Given the description of an element on the screen output the (x, y) to click on. 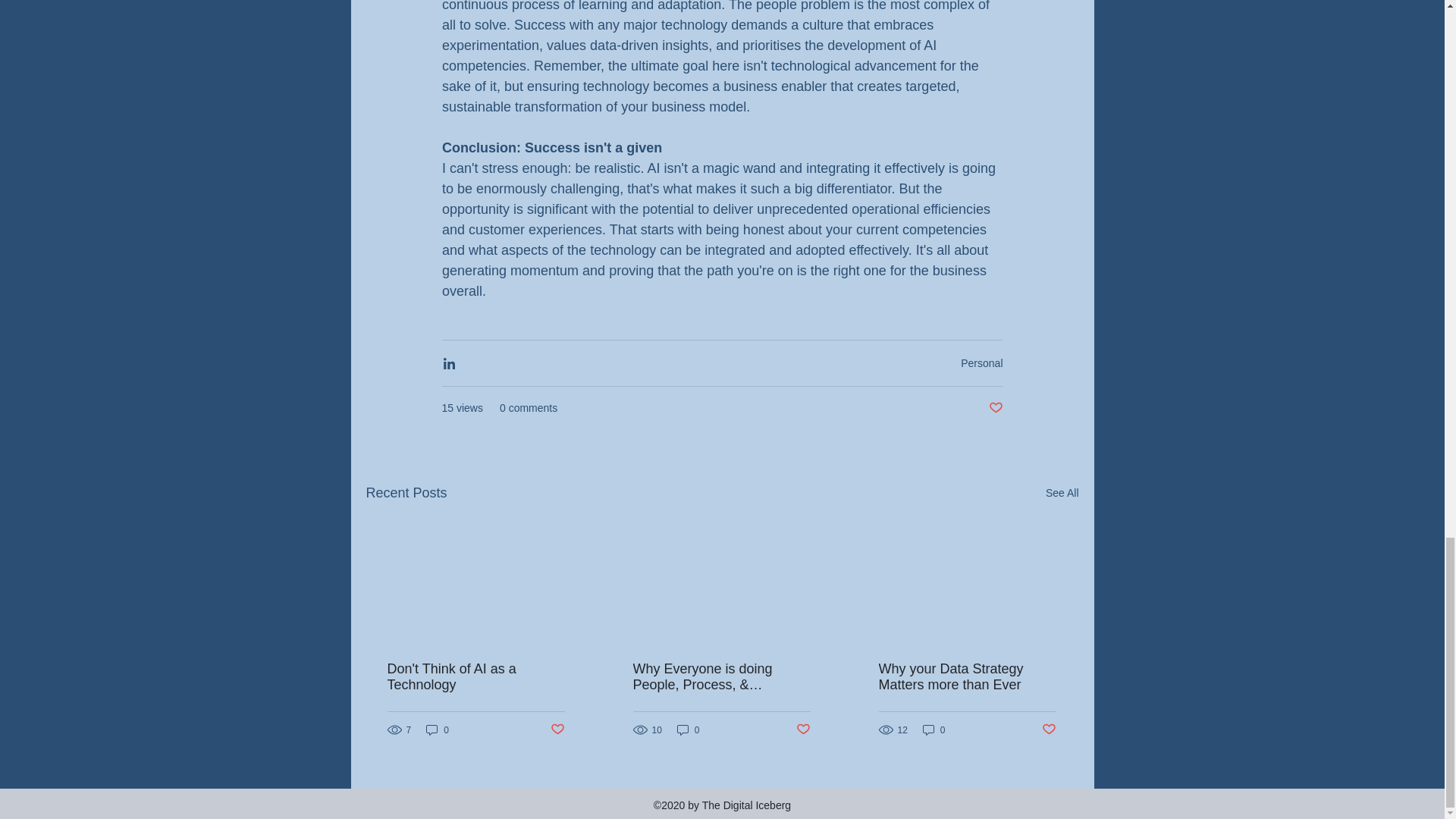
Personal (981, 363)
Why your Data Strategy Matters more than Ever (966, 676)
Post not marked as liked (803, 729)
Post not marked as liked (1049, 729)
0 (437, 729)
0 (688, 729)
Post not marked as liked (557, 729)
Post not marked as liked (995, 408)
Don't Think of AI as a Technology (475, 676)
0 (934, 729)
See All (1061, 493)
